Given the description of an element on the screen output the (x, y) to click on. 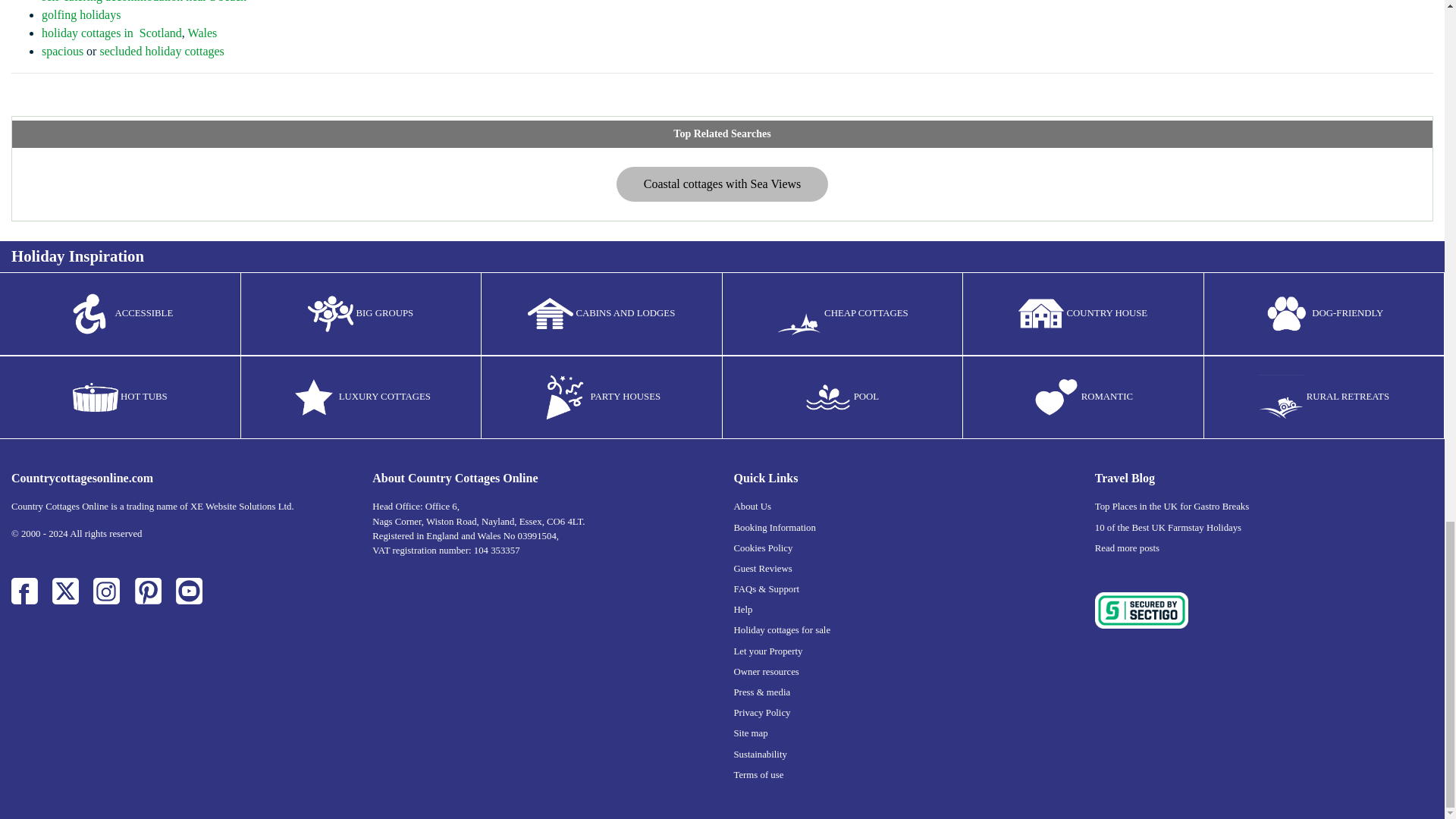
All self-catering (313, 397)
Big Groups (330, 313)
Rural Retreats (1280, 397)
Romantic Holiday Cottages (1055, 397)
Cottages with Pools (827, 397)
Cheap Cottages (799, 313)
Large Country Houses (1040, 313)
Party Houses (564, 397)
Accessible Cottages (89, 313)
Log Cabin Holidays (550, 313)
